Given the description of an element on the screen output the (x, y) to click on. 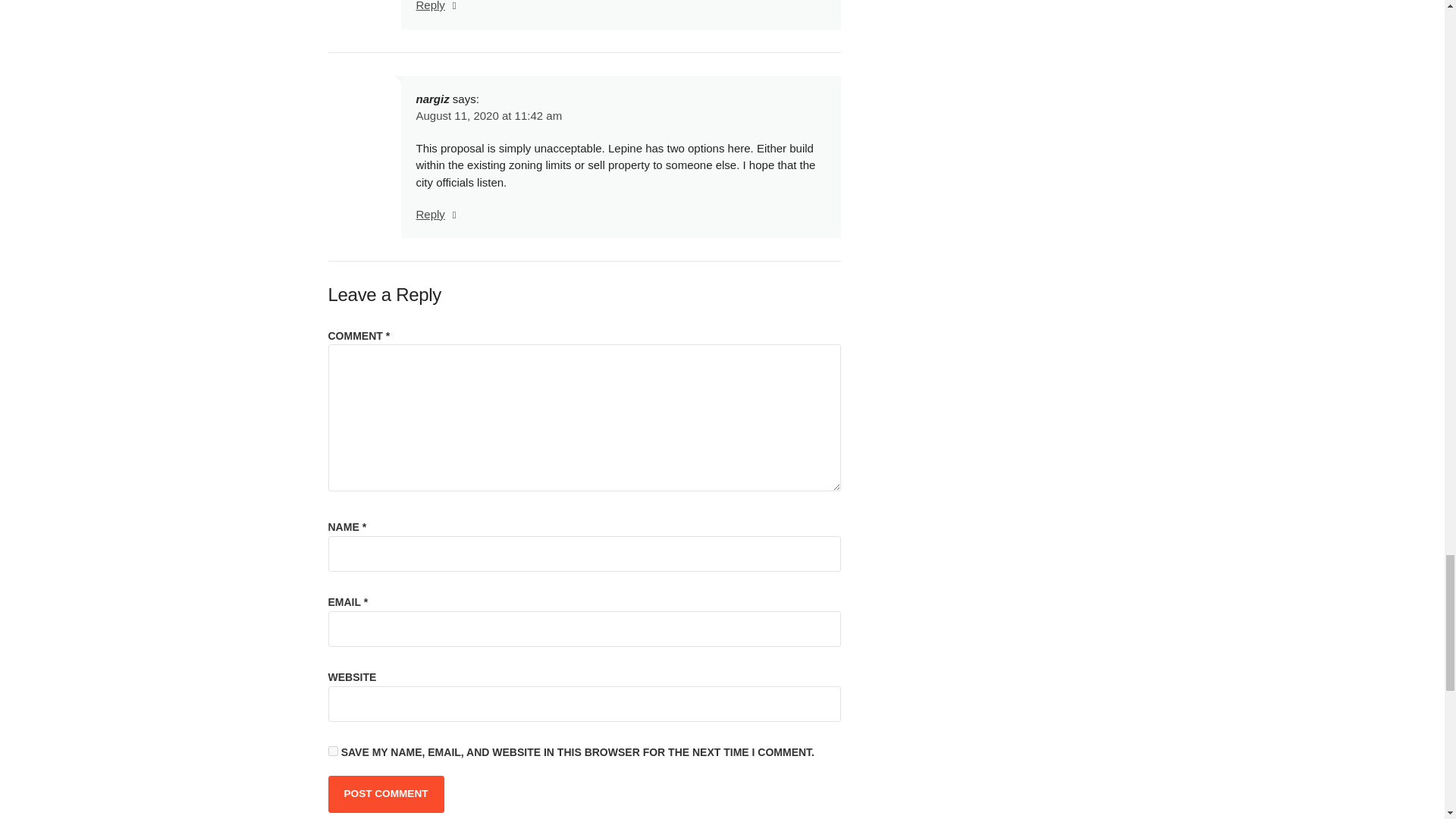
Post Comment (385, 793)
yes (332, 750)
